Given the description of an element on the screen output the (x, y) to click on. 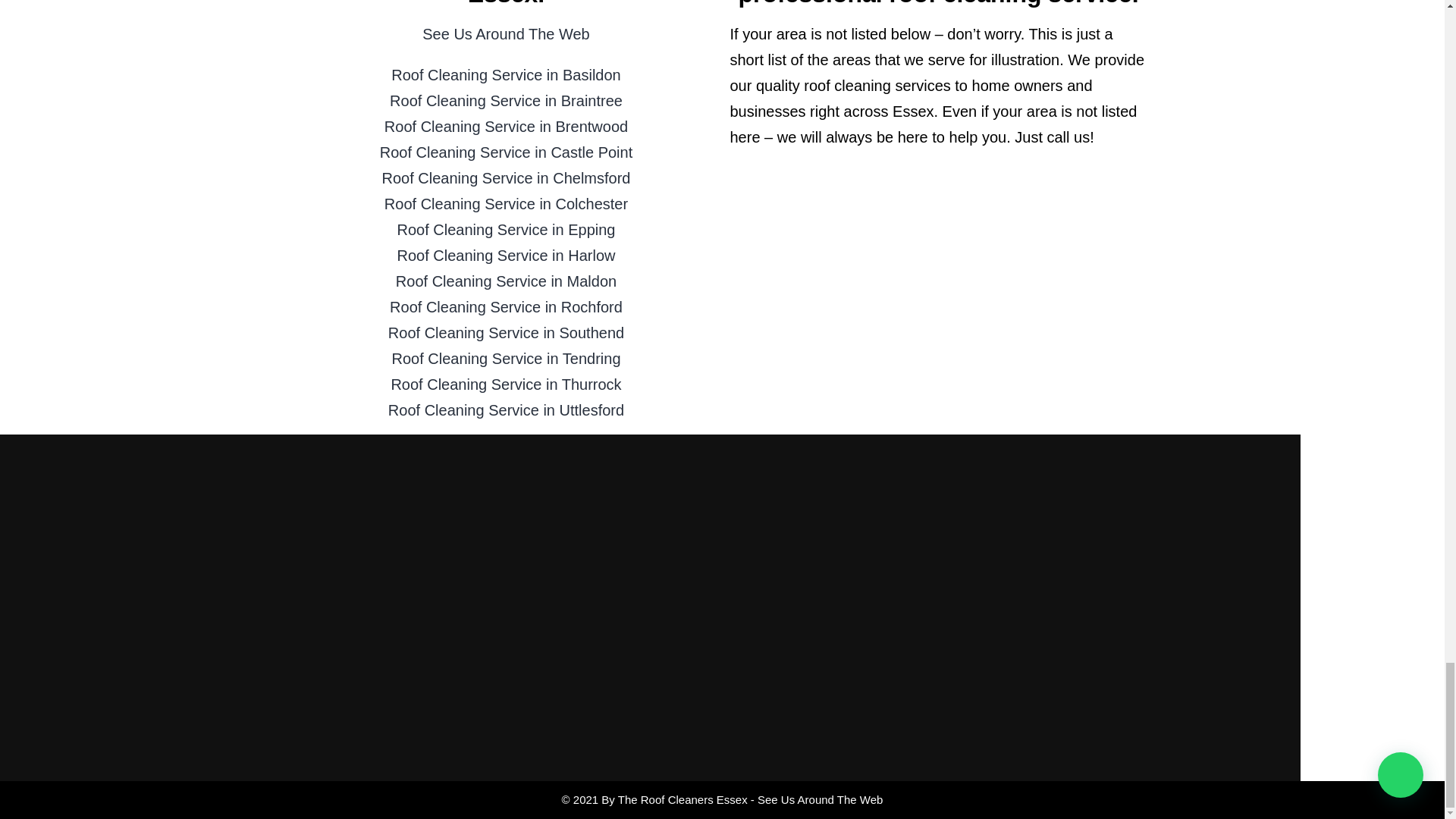
Roof Cleaning Service in Basildon (505, 74)
The Roof Cleaners Essex (682, 799)
Roof Cleaning Service in Thurrock (505, 384)
Roof Cleaning Service in Uttlesford (506, 410)
Roof Cleaning Service in Maldon (505, 280)
Roof Cleaning Service in Castle Point (506, 152)
Roof Cleaning Service in Braintree (506, 100)
Roof Cleaning Service in Epping (506, 229)
Roof Cleaning Service in Southend (506, 332)
Roof Cleaning Service in Brentwood (505, 126)
Roof Cleaning Service in Harlow (506, 255)
See Us Around The Web (505, 33)
Roof Cleaning Service in Colchester (505, 203)
Roof Cleaning Service in Rochford (506, 306)
Roof Cleaning Service in Chelmsford (505, 177)
